Given the description of an element on the screen output the (x, y) to click on. 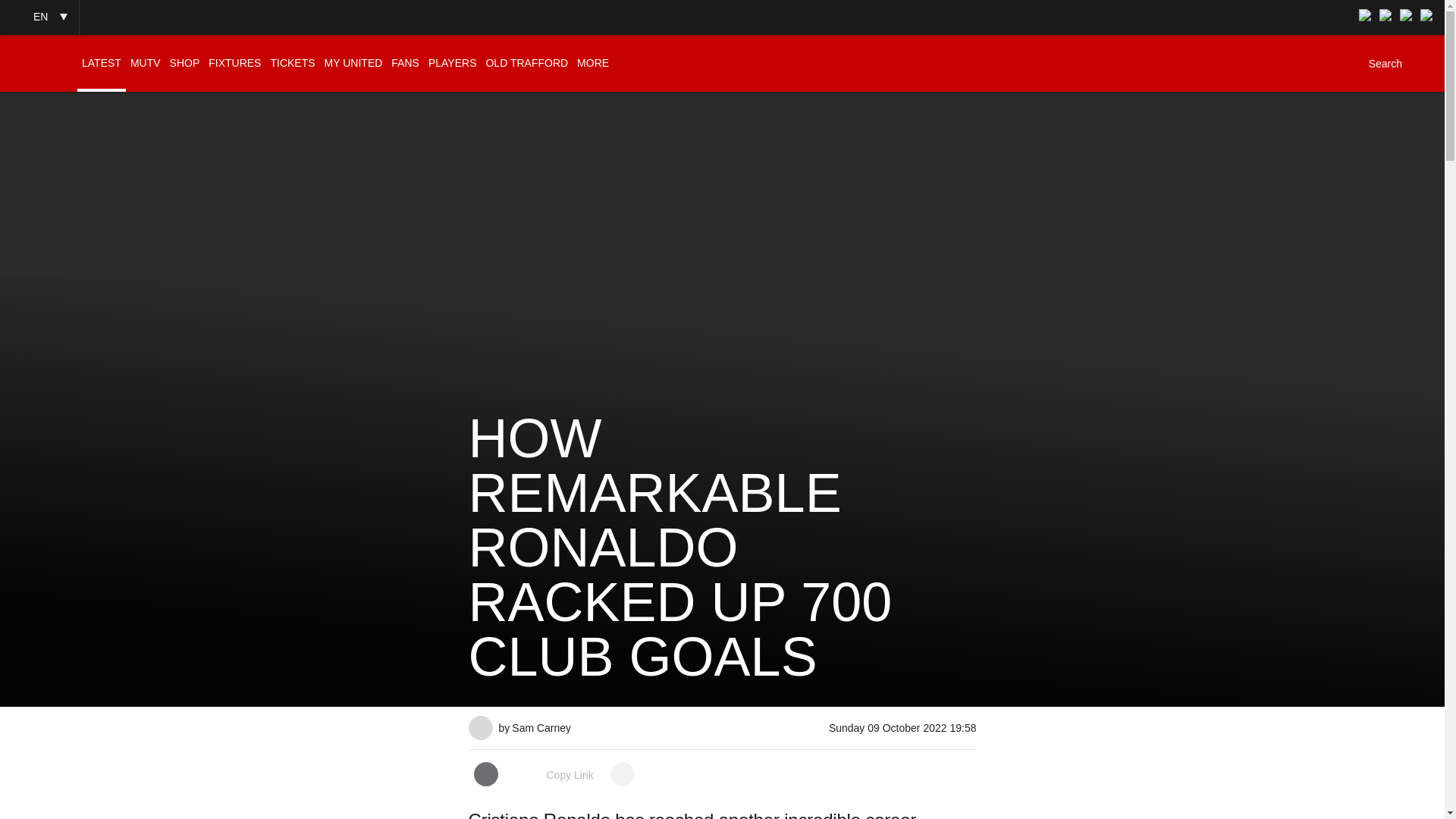
OLD TRAFFORD (526, 63)
FIXTURES (233, 63)
Copy Link (552, 774)
PLAYERS (452, 63)
TICKETS (291, 63)
MY UNITED (353, 63)
